Given the description of an element on the screen output the (x, y) to click on. 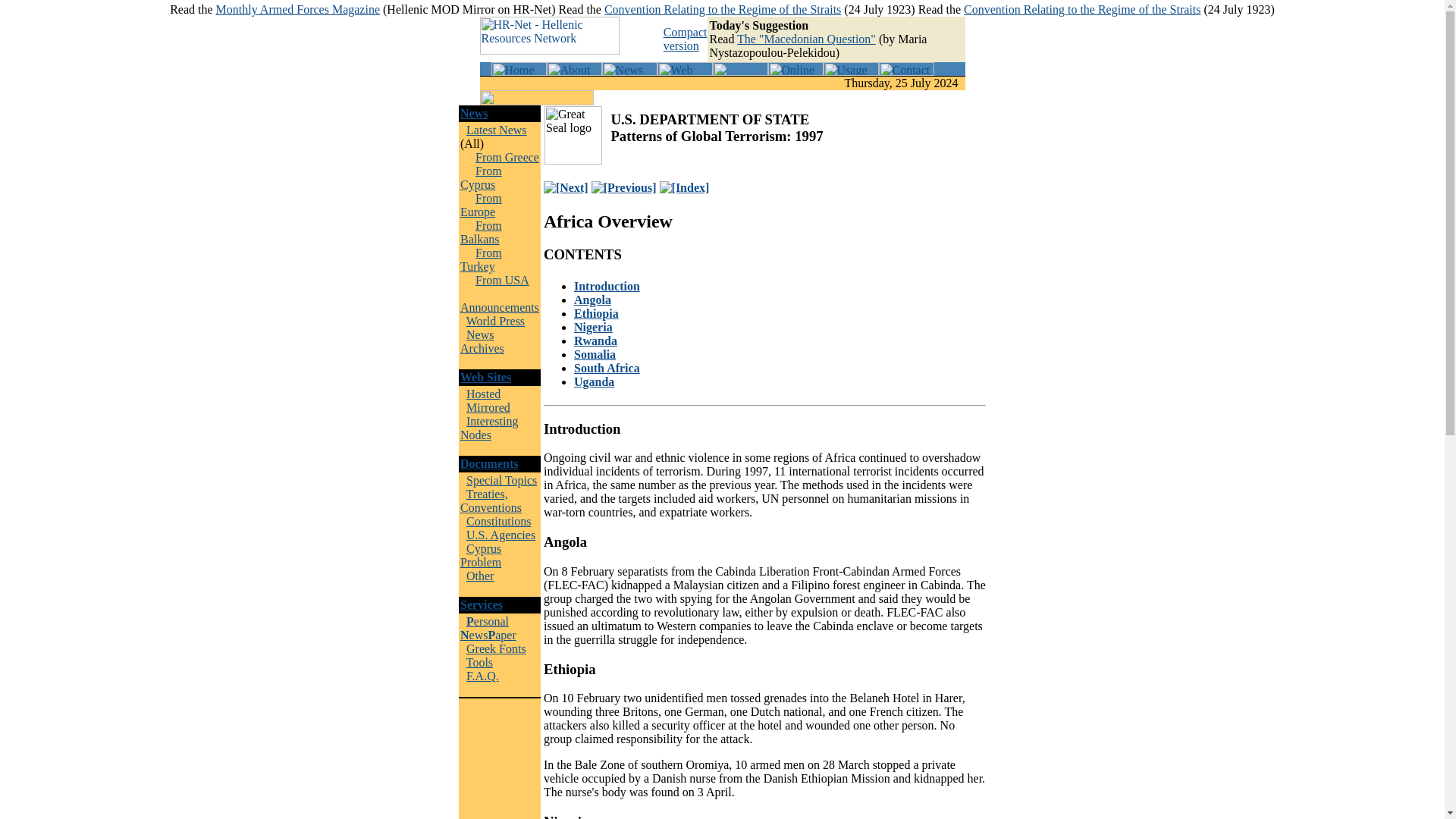
Latest News (496, 129)
News (473, 113)
Treaties, Conventions (490, 500)
Convention Relating to the Regime of the Straits (1081, 9)
Mirrored (488, 407)
Constitutions (498, 521)
Special Topics (501, 480)
World Press (494, 320)
From Cyprus (481, 177)
From Turkey (481, 259)
From Europe (481, 204)
From USA (502, 279)
The "Macedonian Question" (806, 38)
Personal NewsPaper (488, 628)
Convention Relating to the Regime of the Straits (722, 9)
